Given the description of an element on the screen output the (x, y) to click on. 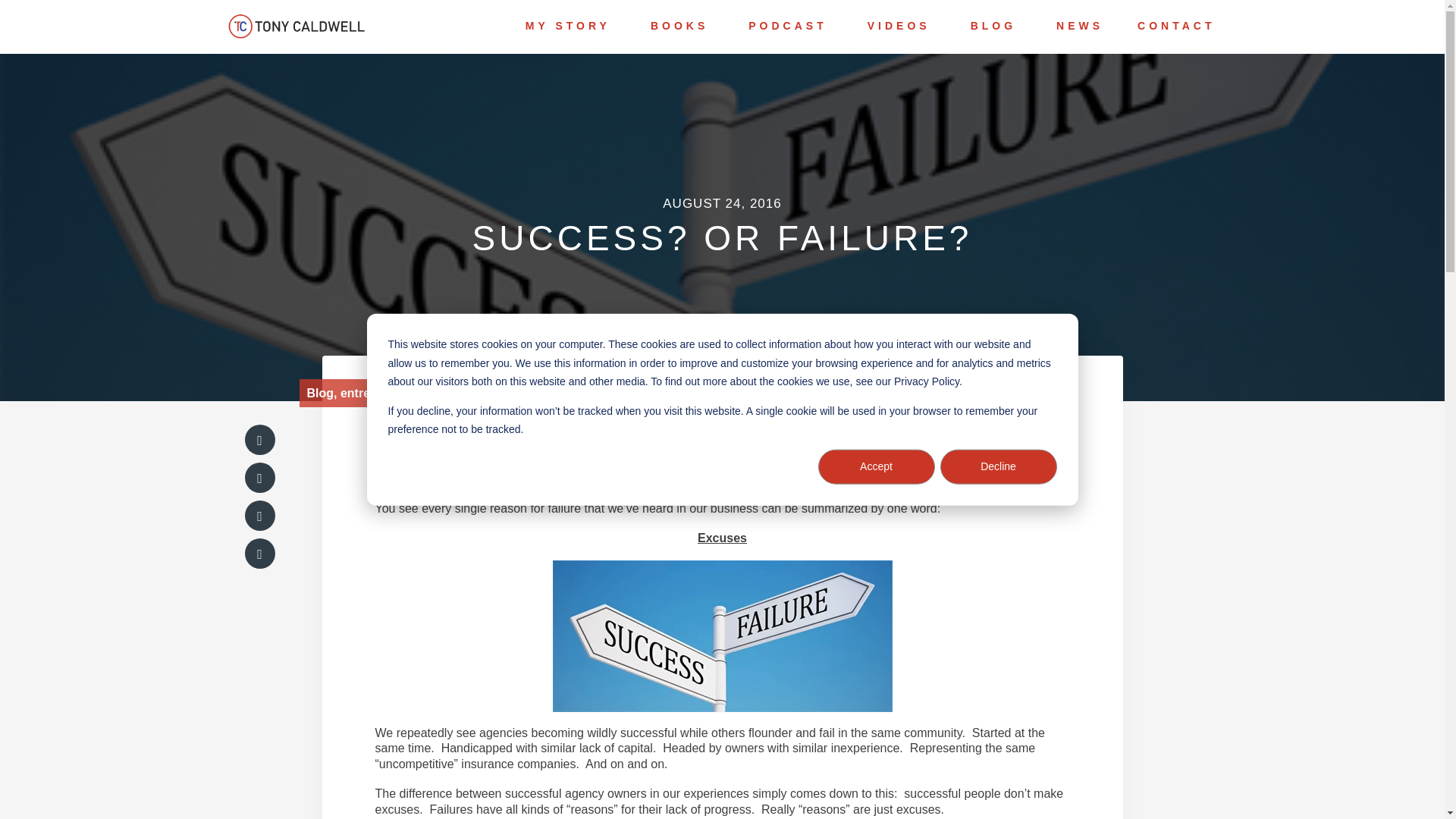
BOOKS (679, 25)
CONTACT (1176, 25)
BLOG (992, 25)
PODCAST (787, 25)
NEWS (1079, 25)
VIDEOS (898, 25)
MY STORY (567, 25)
